Given the description of an element on the screen output the (x, y) to click on. 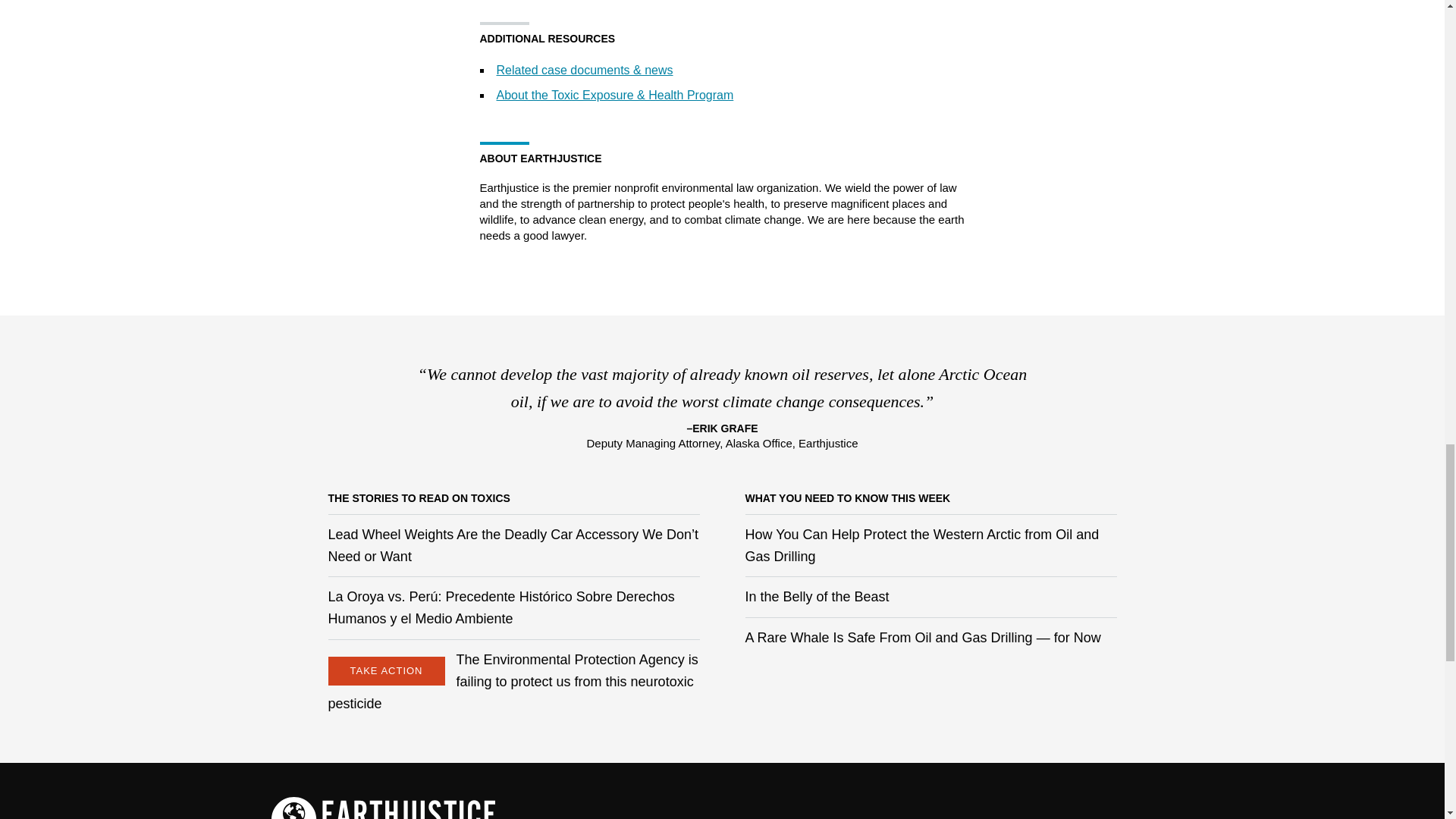
In the Belly of the Beast (816, 596)
